Given the description of an element on the screen output the (x, y) to click on. 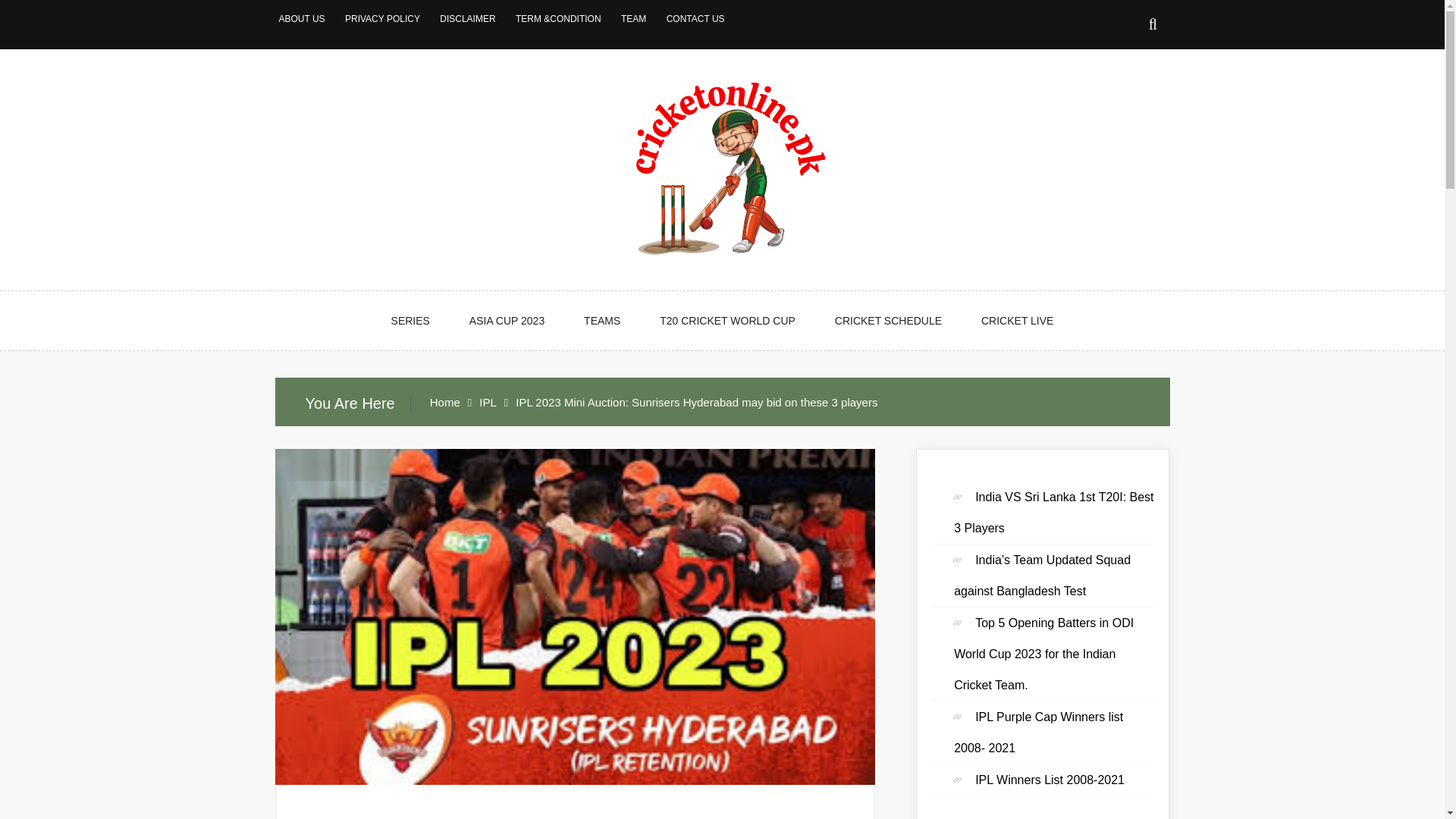
DISCLAIMER (467, 18)
T20 CRICKET WORLD CUP (727, 320)
TEAMS (602, 320)
CRICKET SCHEDULE (887, 320)
CRICKET LIVE (1016, 320)
IPL (575, 817)
IPL (487, 401)
PRIVACY POLICY (382, 18)
CONTACT US (695, 18)
TEAM (633, 18)
